Given the description of an element on the screen output the (x, y) to click on. 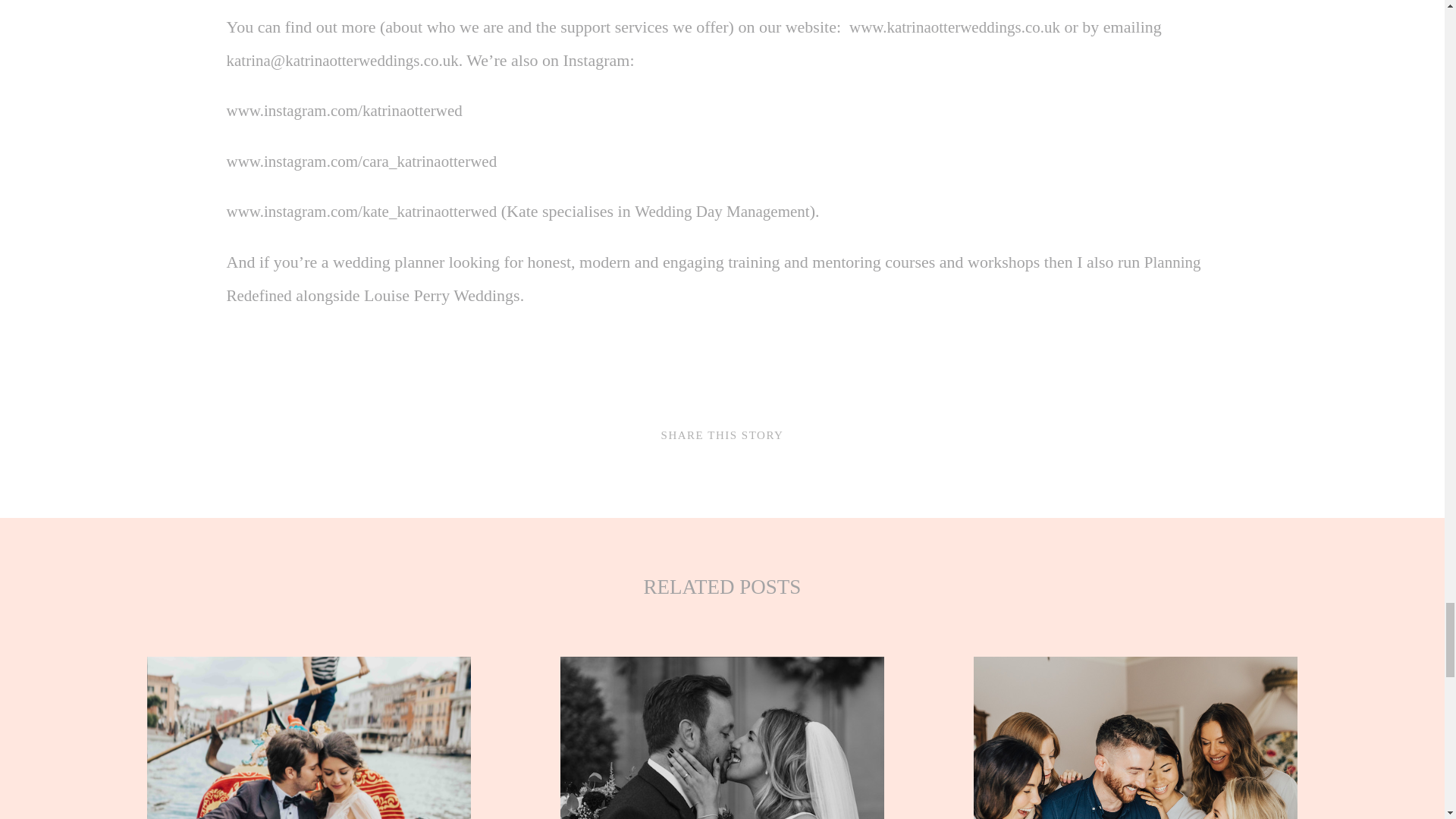
Wedding Day Management (721, 211)
www.katrinaotterweddings.co.uk (953, 27)
Planning Redefined (712, 278)
